Given the description of an element on the screen output the (x, y) to click on. 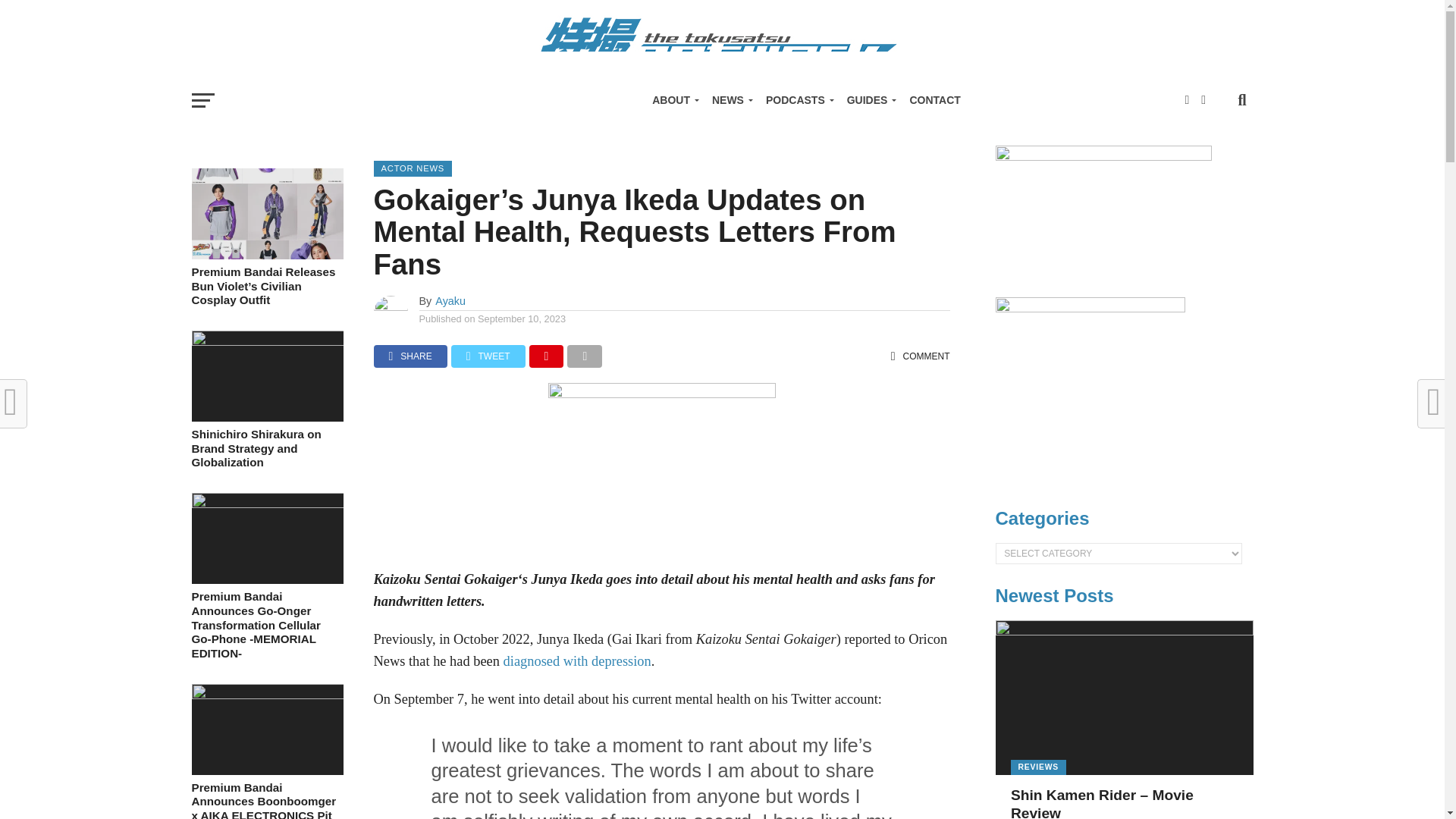
PODCASTS (797, 99)
CONTACT (934, 99)
NEWS (730, 99)
GUIDES (869, 99)
Posts by Ayaku (450, 300)
Shinichiro Shirakura on Brand Strategy and Globalization (266, 341)
ABOUT (673, 99)
